Given the description of an element on the screen output the (x, y) to click on. 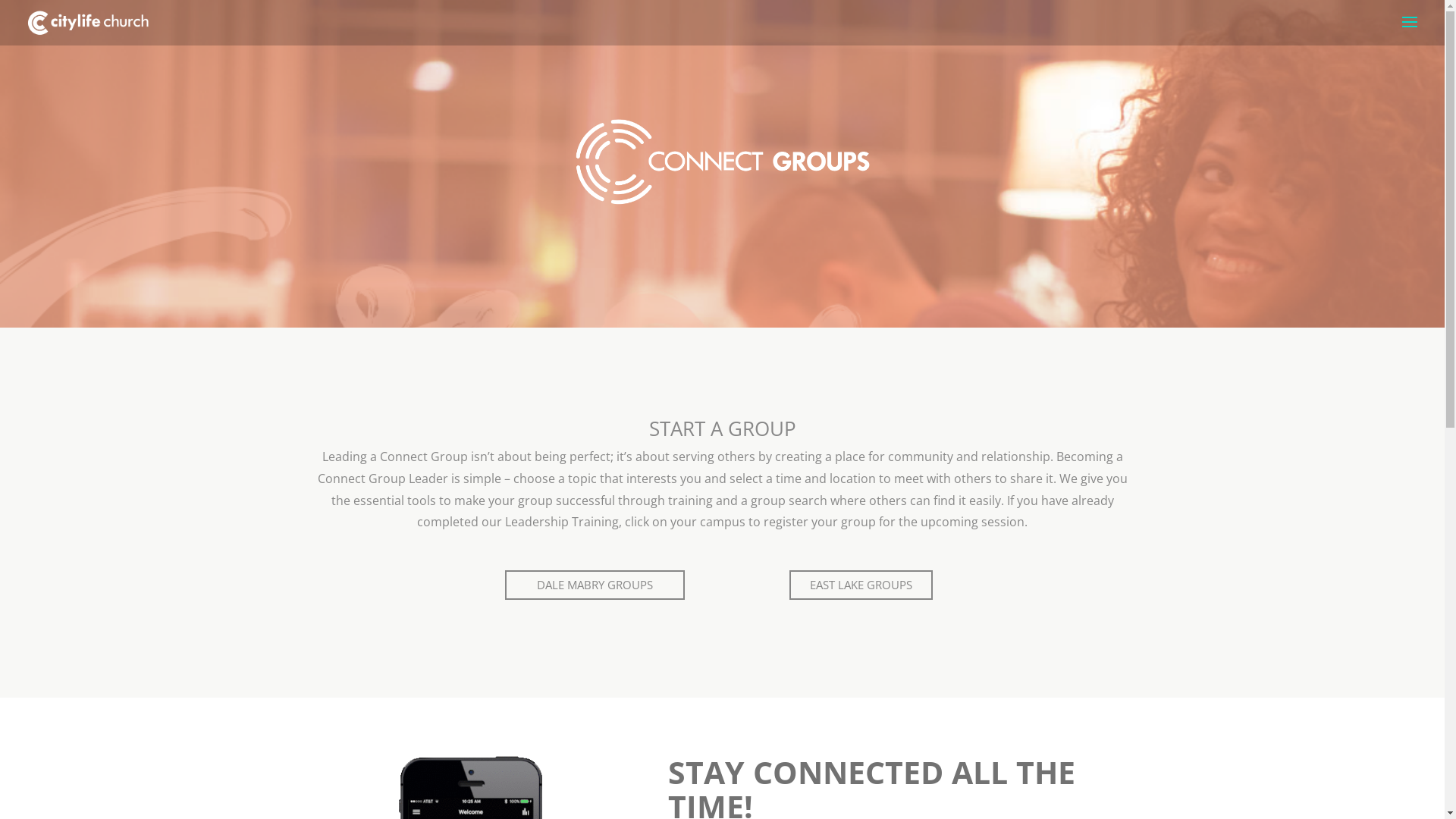
EAST LAKE GROUPS Element type: text (860, 584)
DALE MABRY GROUPS Element type: text (594, 584)
